Given the description of an element on the screen output the (x, y) to click on. 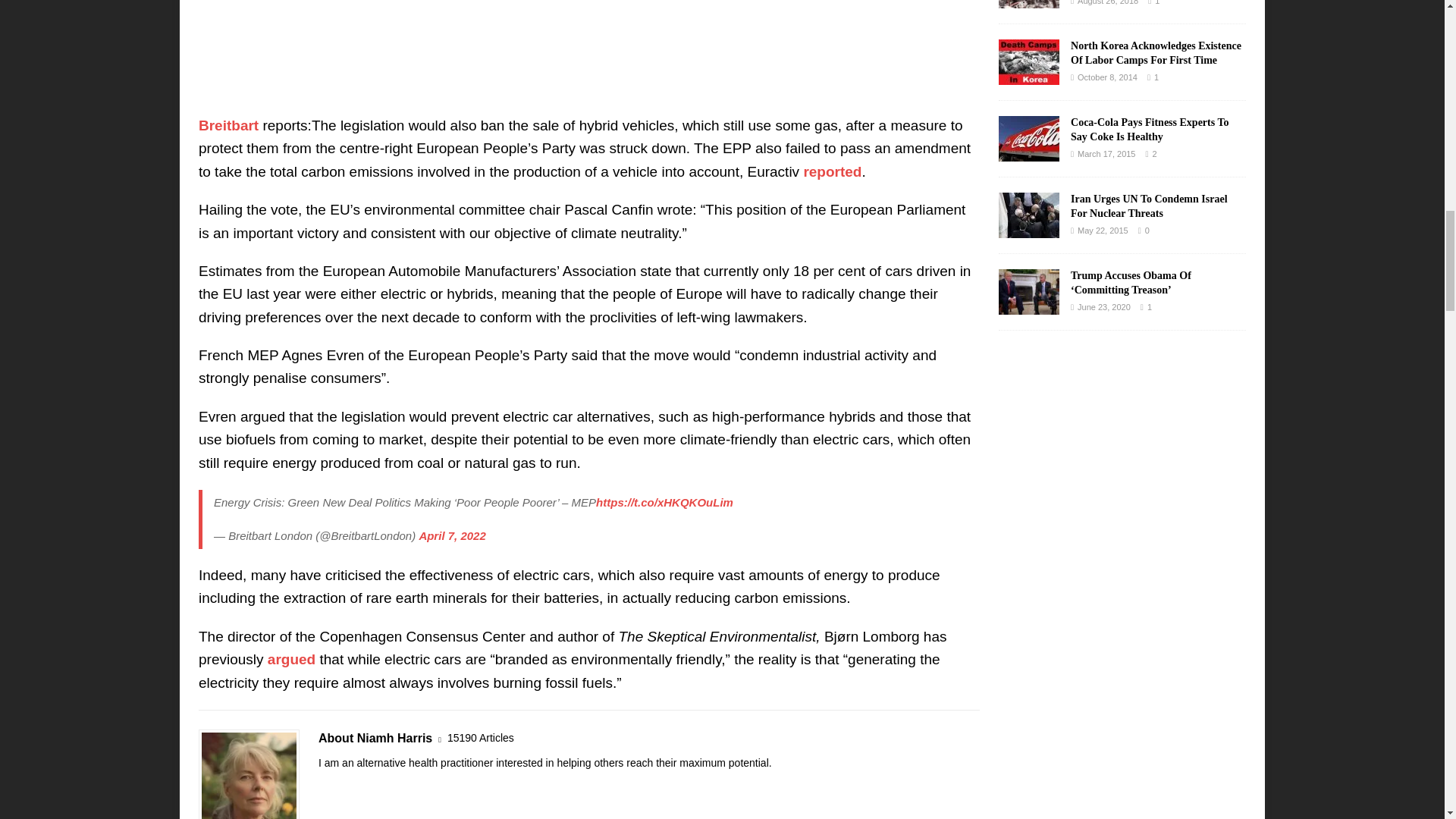
More articles written by Niamh Harris' (479, 738)
